Given the description of an element on the screen output the (x, y) to click on. 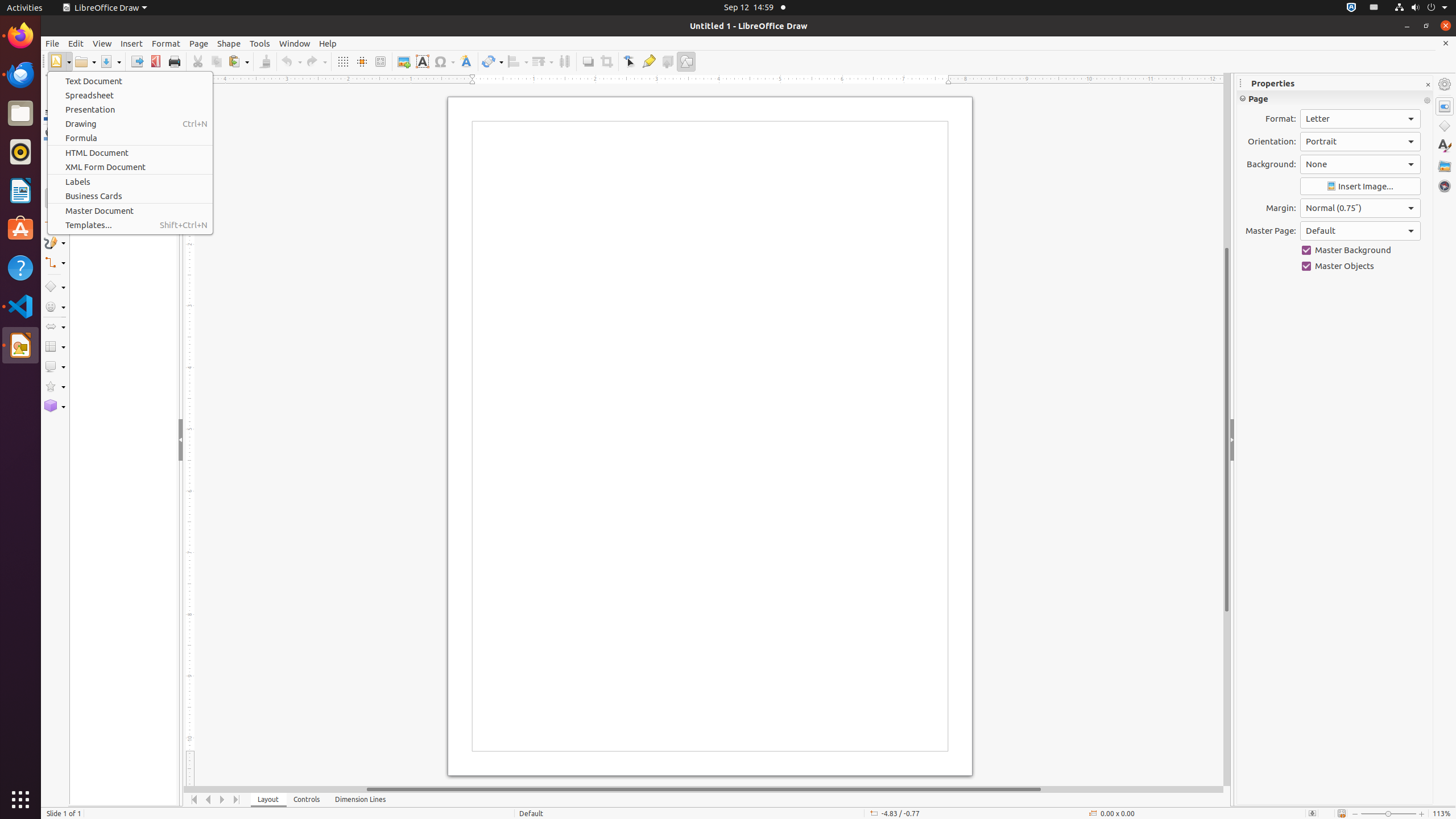
Firefox Web Browser Element type: push-button (20, 35)
System Element type: menu (1420, 7)
Files Element type: push-button (20, 113)
Ubuntu Software Element type: push-button (20, 229)
Rhythmbox Element type: push-button (20, 151)
